Given the description of an element on the screen output the (x, y) to click on. 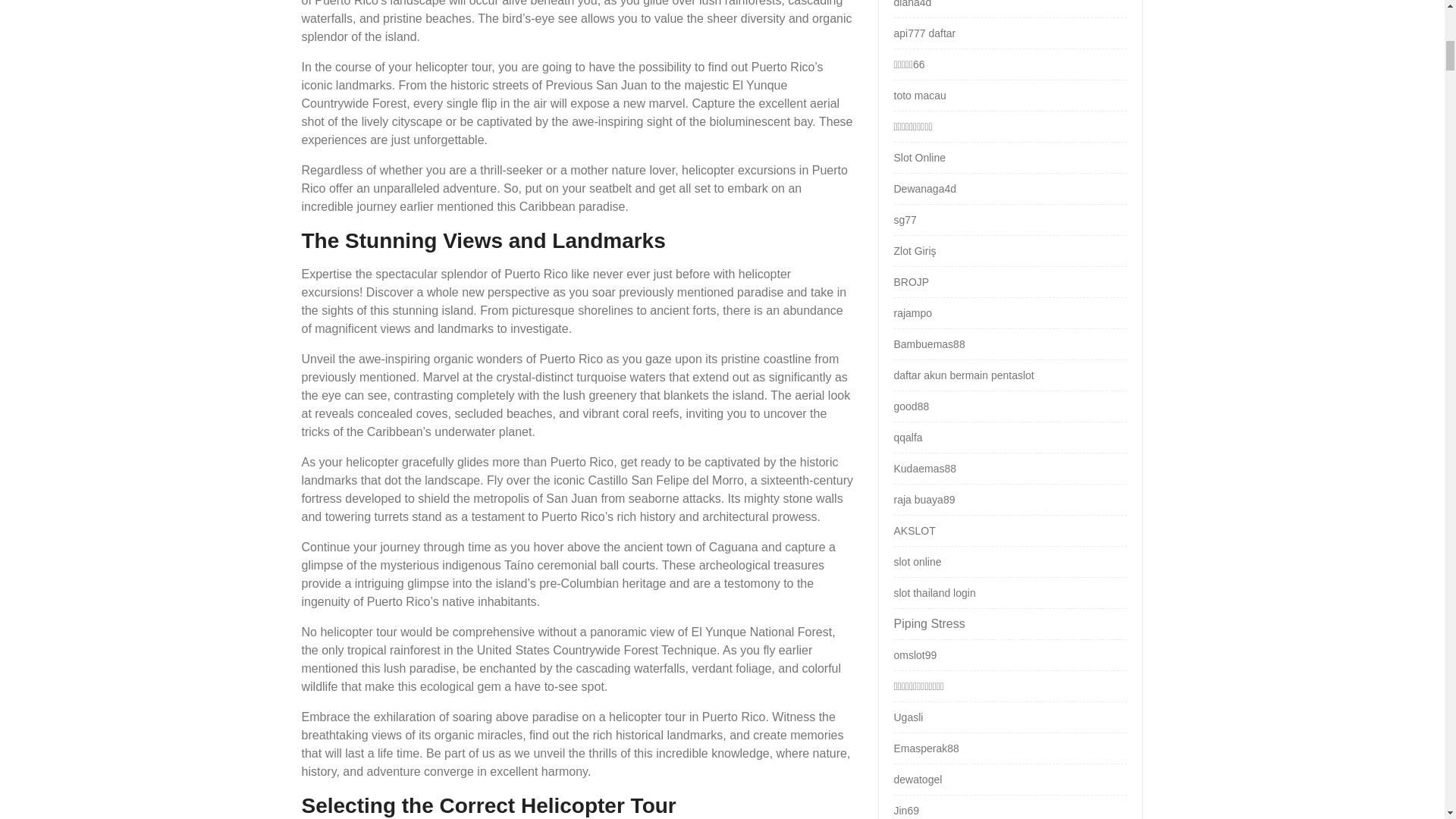
rajampo (912, 313)
BROJP (910, 282)
sg77 (904, 219)
Bambuemas88 (928, 344)
api777 daftar (924, 33)
Slot Online (918, 157)
AKSLOT (913, 530)
Kudaemas88 (924, 468)
slot online (916, 562)
raja buaya89 (924, 499)
Dewanaga4d (924, 188)
daftar akun bermain pentaslot (963, 375)
diana4d (912, 4)
qqalfa (907, 437)
good88 (910, 406)
